Given the description of an element on the screen output the (x, y) to click on. 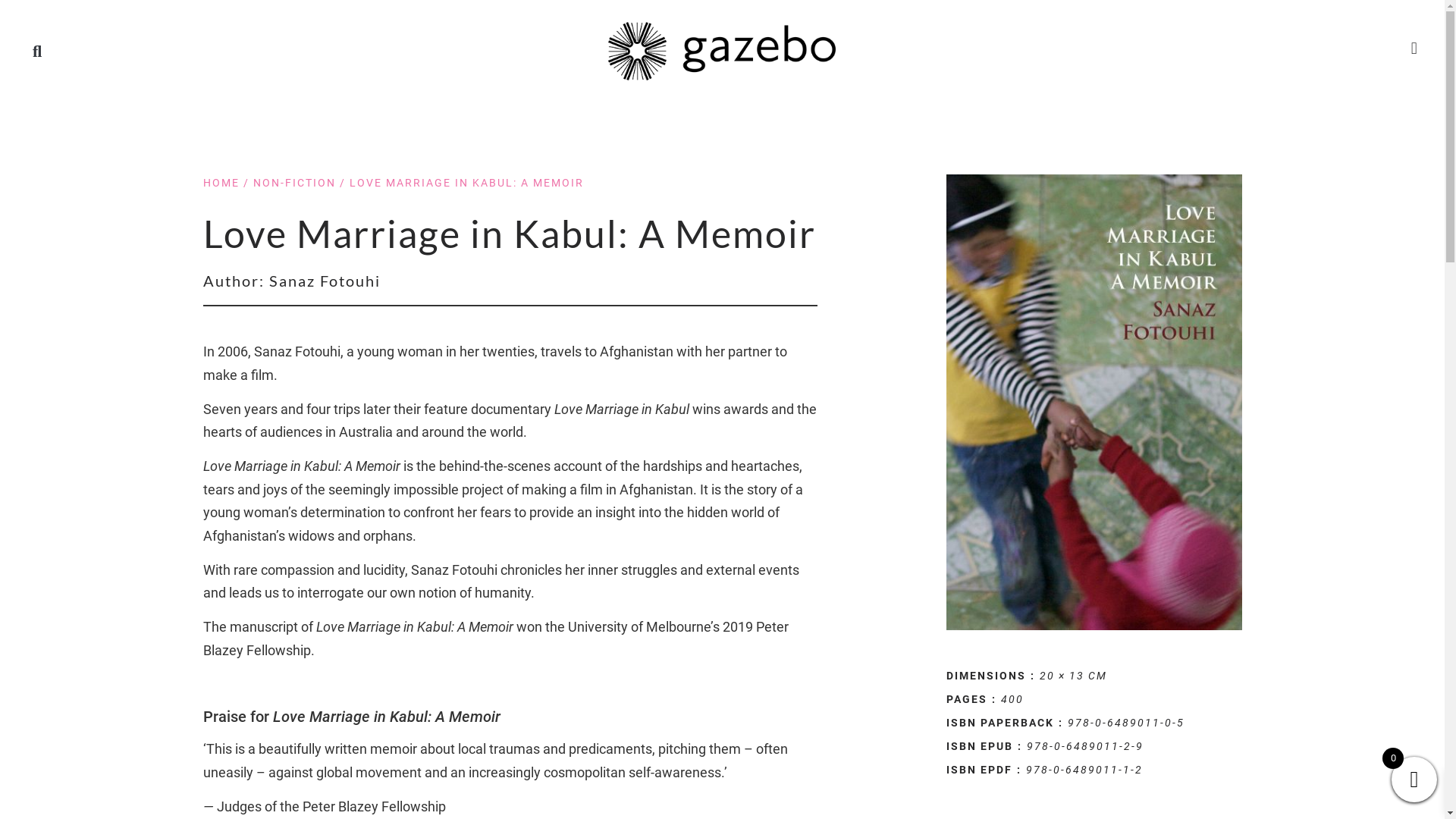
Sanaz Fotouhi Element type: text (323, 280)
NON-FICTION Element type: text (294, 182)
HOME Element type: text (221, 182)
